Given the description of an element on the screen output the (x, y) to click on. 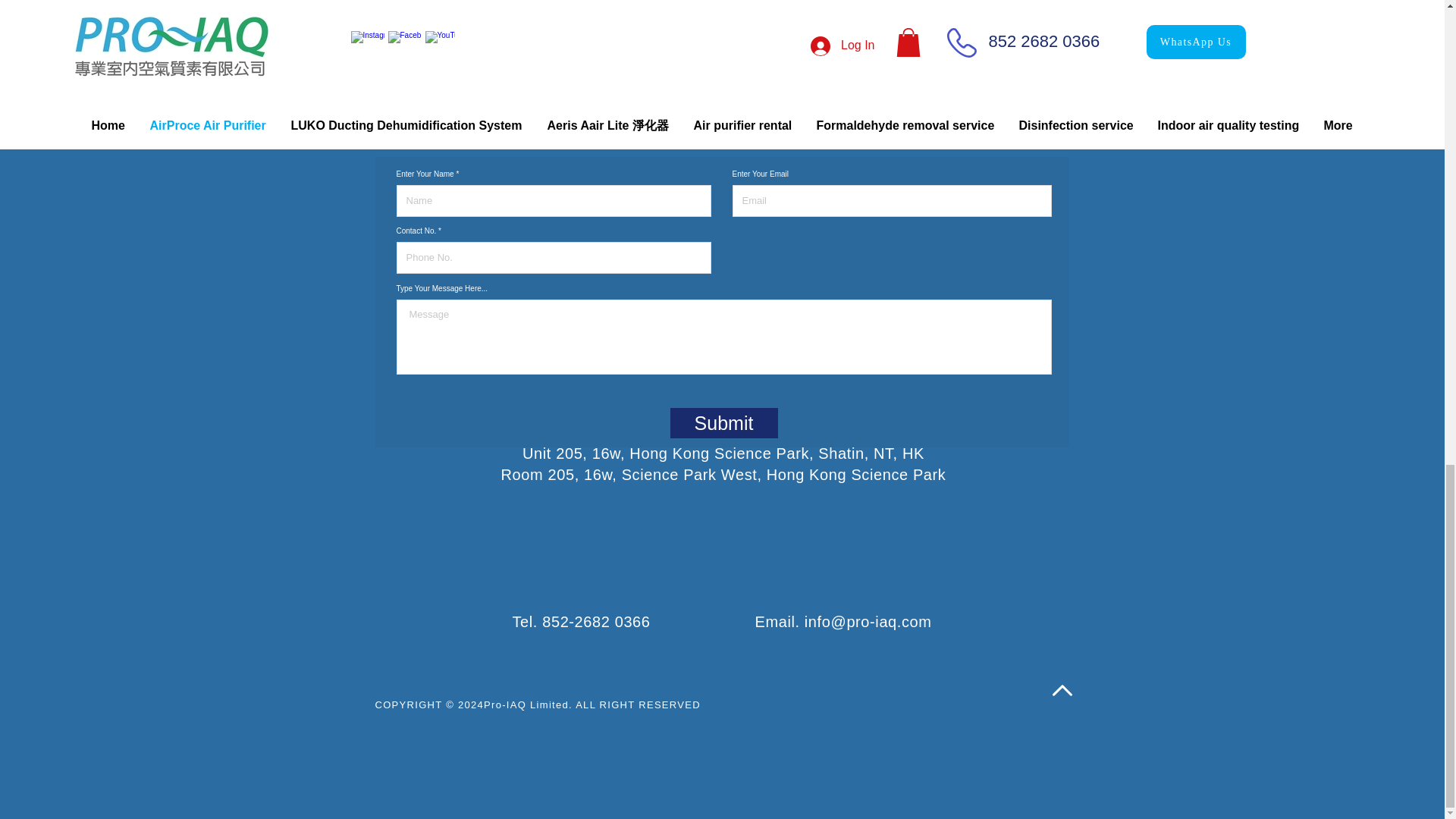
More (906, 2)
Submit (723, 422)
